Given the description of an element on the screen output the (x, y) to click on. 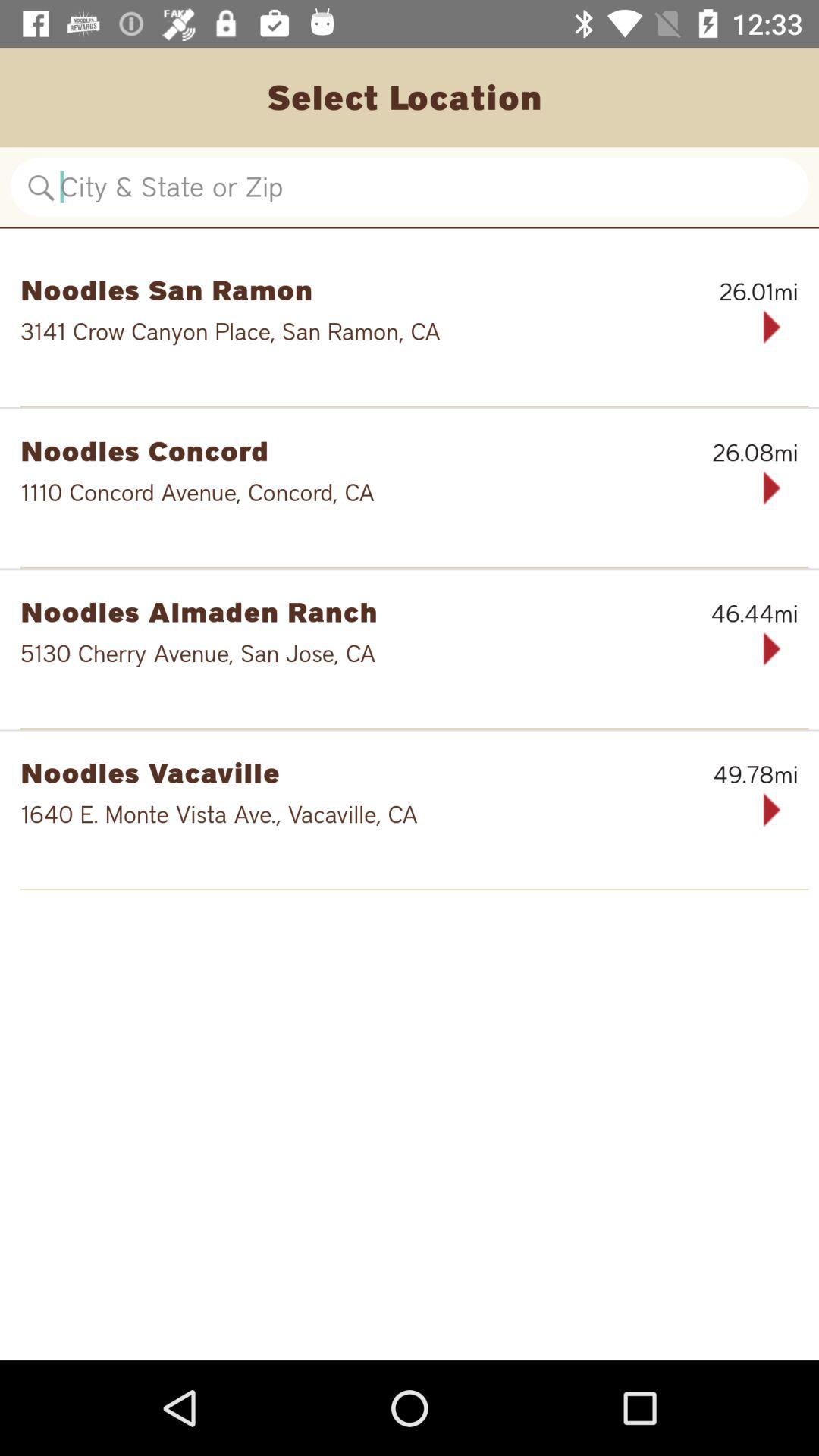
scroll to the noodles almaden ranch  item (331, 611)
